Given the description of an element on the screen output the (x, y) to click on. 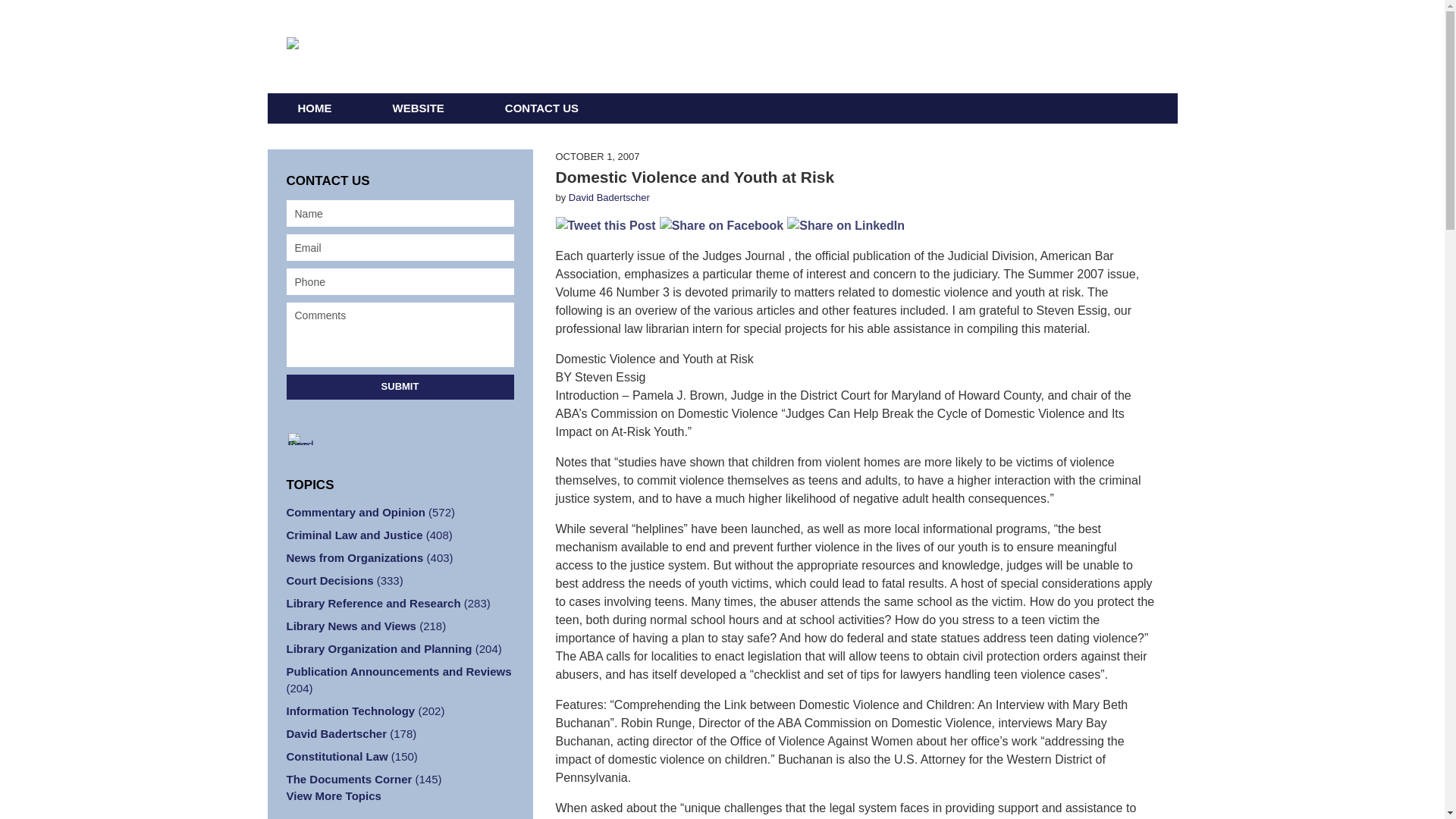
SUBMIT (399, 386)
WEBSITE (418, 108)
CONTACT US (541, 108)
Feed (304, 439)
Please enter a valid phone number. (399, 281)
View More Topics (399, 795)
David Badertscher (609, 197)
Criminal Law Library Blog (493, 46)
HOME (313, 108)
Published By David Badertscher (1034, 46)
